Given the description of an element on the screen output the (x, y) to click on. 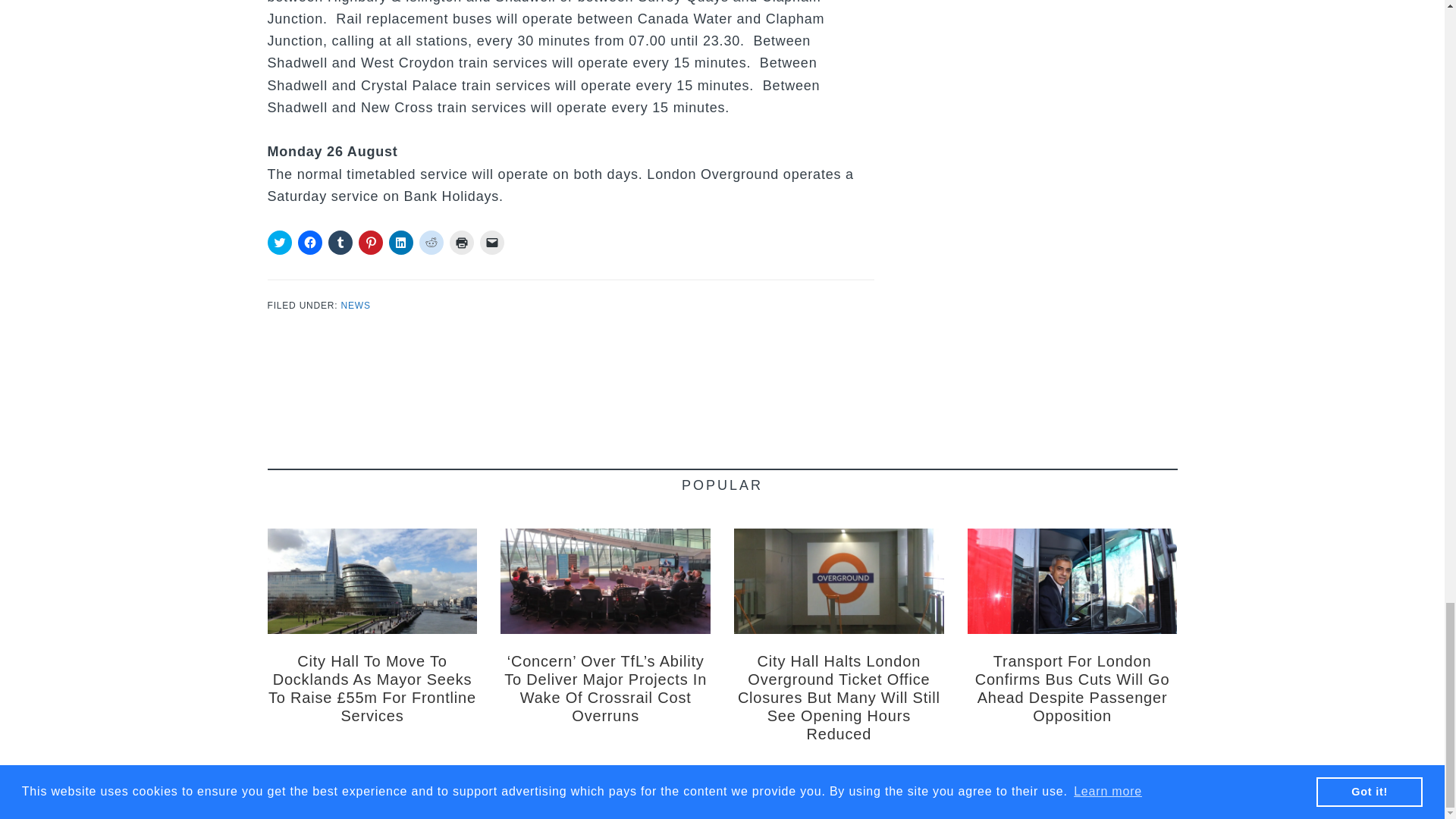
Click to share on Pinterest (369, 242)
TERMS OF USE (727, 791)
Click to print (460, 242)
Click to share on Facebook (309, 242)
Click to share on Reddit (430, 242)
Click to share on Tumblr (339, 242)
Click to share on LinkedIn (400, 242)
Click to share on Twitter (278, 242)
PRIVACY POLICY (804, 791)
Click to email a link to a friend (491, 242)
NEWS (355, 305)
